Given the description of an element on the screen output the (x, y) to click on. 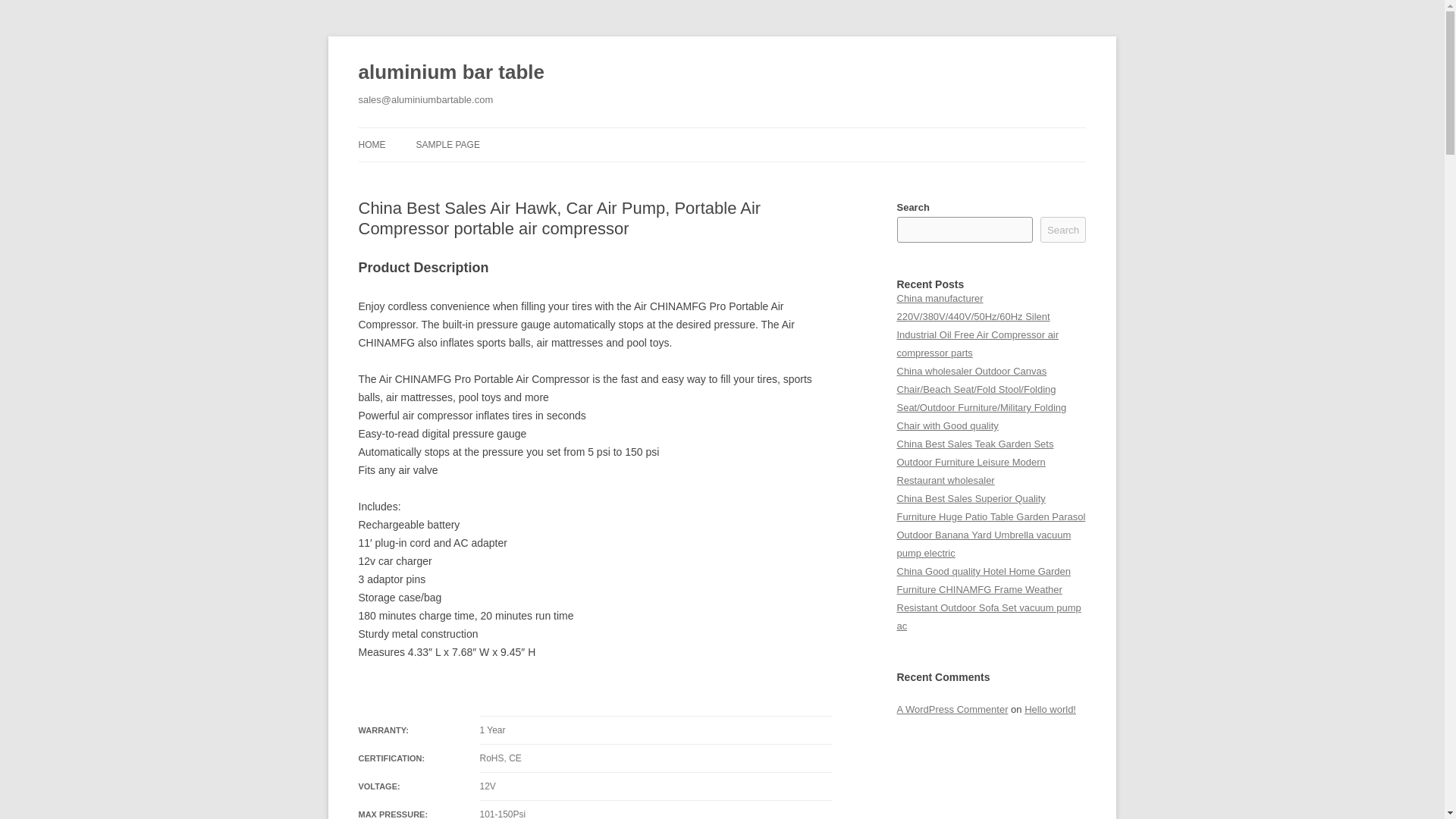
SAMPLE PAGE (446, 144)
Search (1063, 229)
aluminium bar table (450, 72)
HOME (371, 144)
